Given the description of an element on the screen output the (x, y) to click on. 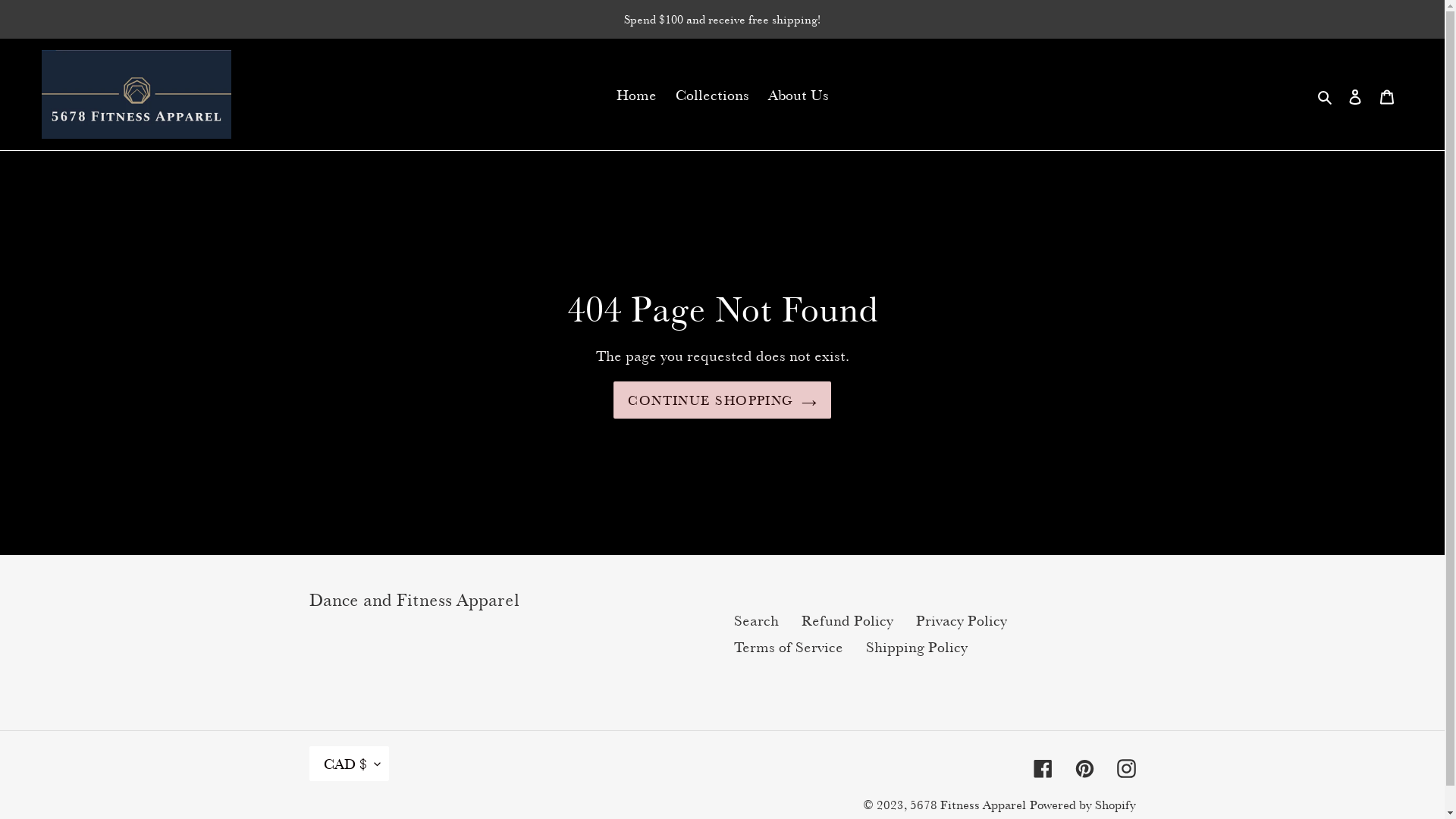
About Us Element type: text (797, 94)
5678 Fitness Apparel Element type: text (968, 804)
CONTINUE SHOPPING Element type: text (721, 400)
CAD $ Element type: text (349, 763)
Spend $100 and receive free shipping! Element type: text (722, 18)
Collections Element type: text (711, 94)
Log in Element type: text (1355, 94)
Home Element type: text (635, 94)
Pinterest Element type: text (1084, 766)
Terms of Service Element type: text (788, 647)
Facebook Element type: text (1041, 766)
Powered by Shopify Element type: text (1082, 804)
Refund Policy Element type: text (846, 620)
Privacy Policy Element type: text (961, 620)
Cart Element type: text (1386, 94)
Search Element type: text (756, 620)
Search Element type: text (1325, 94)
Instagram Element type: text (1125, 766)
Shipping Policy Element type: text (916, 647)
